Given the description of an element on the screen output the (x, y) to click on. 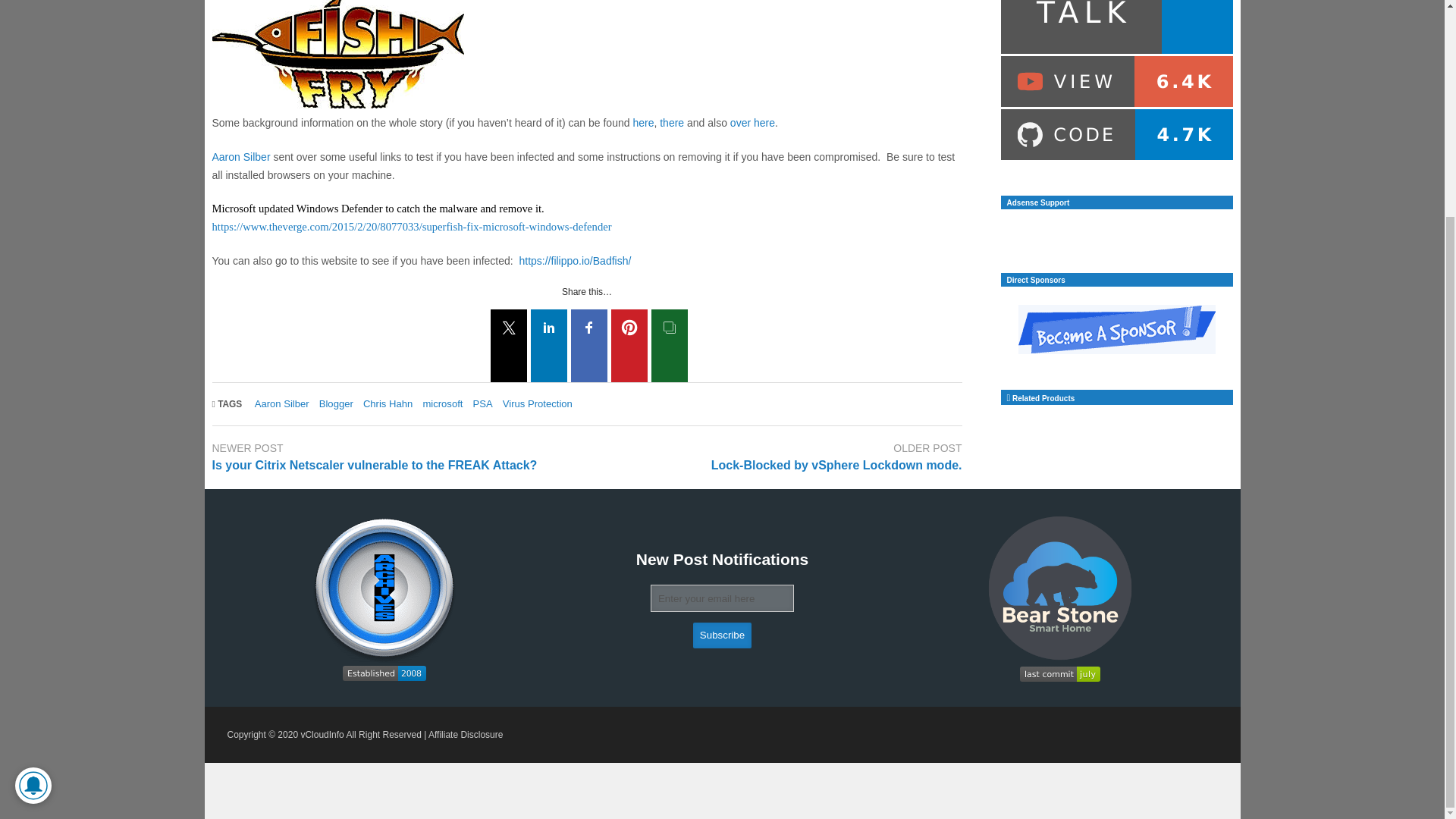
over here (752, 122)
Chris Hahn (387, 403)
PSA (483, 403)
Aaron Silber (281, 403)
Subscribe (722, 635)
microsoft (442, 403)
Blogger (335, 403)
Aaron Silber (241, 156)
Enter your email here (722, 597)
here (642, 122)
there (671, 122)
